Given the description of an element on the screen output the (x, y) to click on. 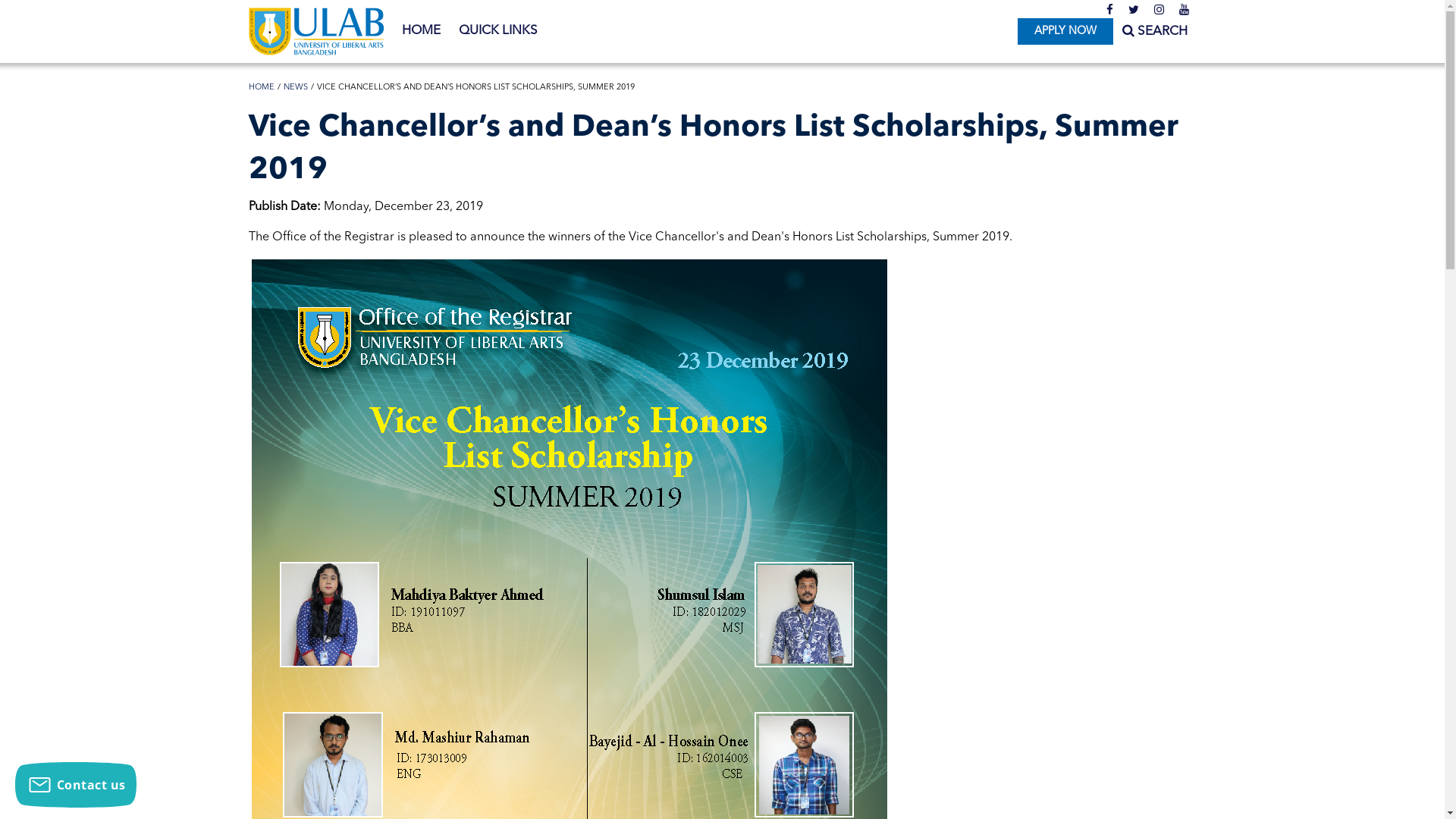
SEARCH Element type: text (1154, 31)
QUICK LINKS Element type: text (497, 30)
Skip to main content Element type: text (61, 0)
HOME Element type: text (420, 30)
Contact us Element type: text (75, 784)
APPLY NOW Element type: text (1064, 31)
NEWS Element type: text (295, 87)
HOME Element type: text (261, 87)
